Given the description of an element on the screen output the (x, y) to click on. 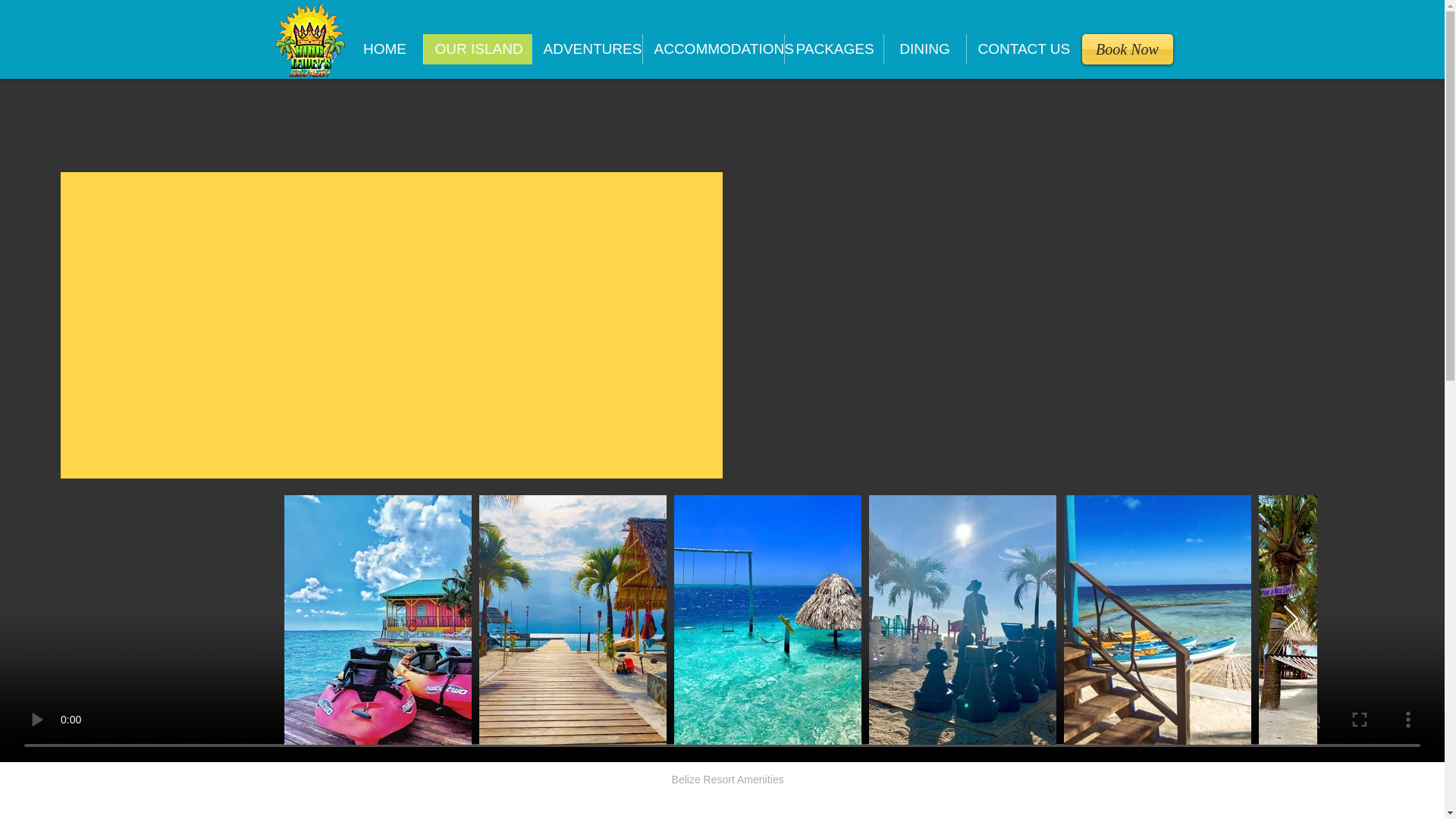
Book Now (1126, 49)
OUR ISLAND (477, 49)
CONTACT US (1020, 49)
HOME (385, 49)
PACKAGES (833, 49)
DINING (923, 49)
ACCOMMODATIONS (712, 49)
ADVENTURES (586, 49)
